Given the description of an element on the screen output the (x, y) to click on. 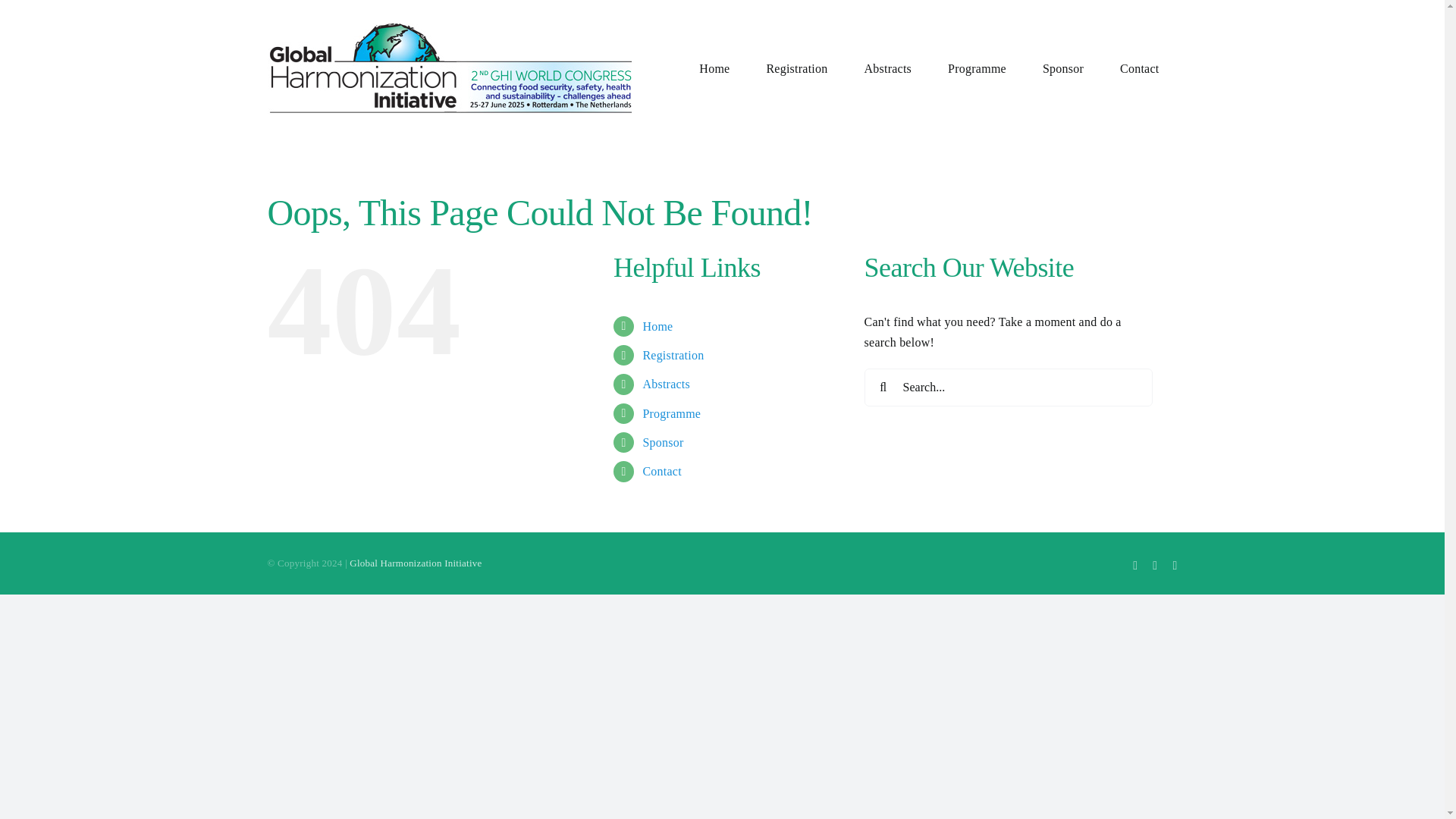
Home (657, 326)
Abstracts (666, 383)
Registration (672, 354)
Programme (671, 413)
